Given the description of an element on the screen output the (x, y) to click on. 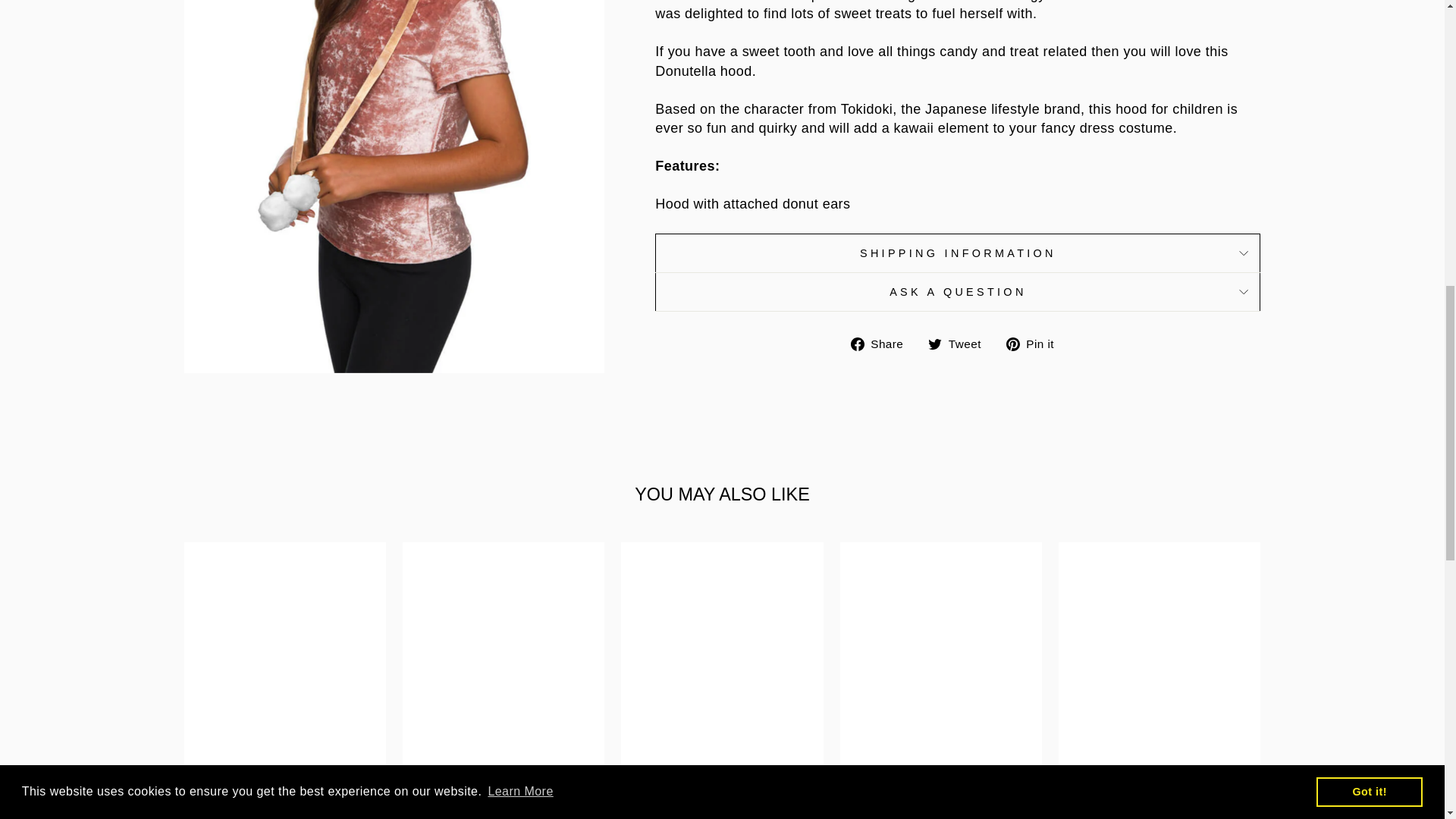
Tweet on Twitter (960, 343)
Pin on Pinterest (1035, 343)
Share on Facebook (882, 343)
